Given the description of an element on the screen output the (x, y) to click on. 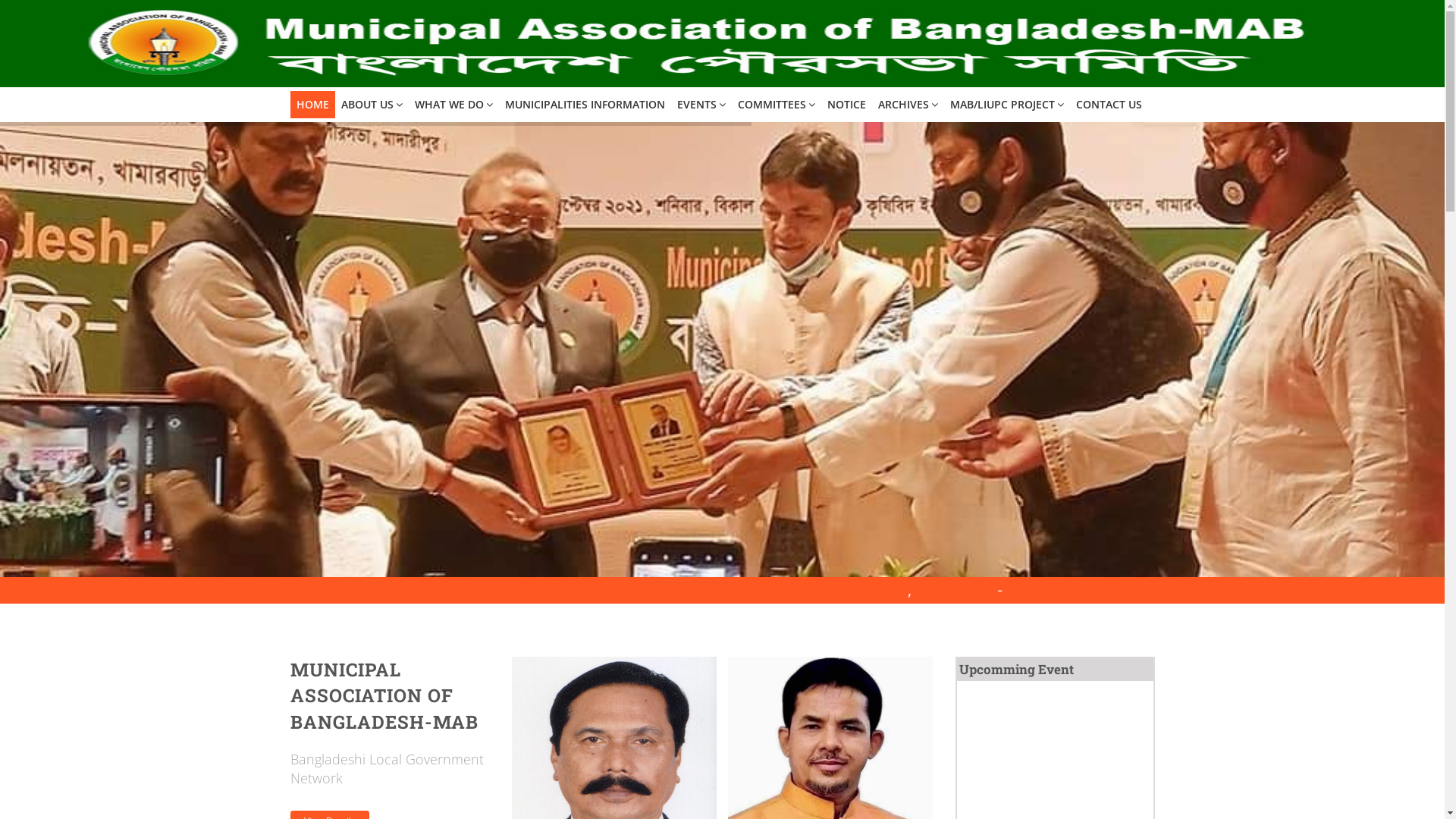
EVENTS Element type: text (700, 104)
MUNICIPALITIES INFORMATION Element type: text (584, 104)
ARCHIVES Element type: text (908, 104)
NOTICE Element type: text (845, 104)
ABOUT US Element type: text (371, 104)
COMMITTEES Element type: text (775, 104)
HOME Element type: text (311, 104)
MAB/LIUPC PROJECT Element type: text (1006, 104)
CONTACT US Element type: text (1108, 104)
WHAT WE DO Element type: text (452, 104)
